Given the description of an element on the screen output the (x, y) to click on. 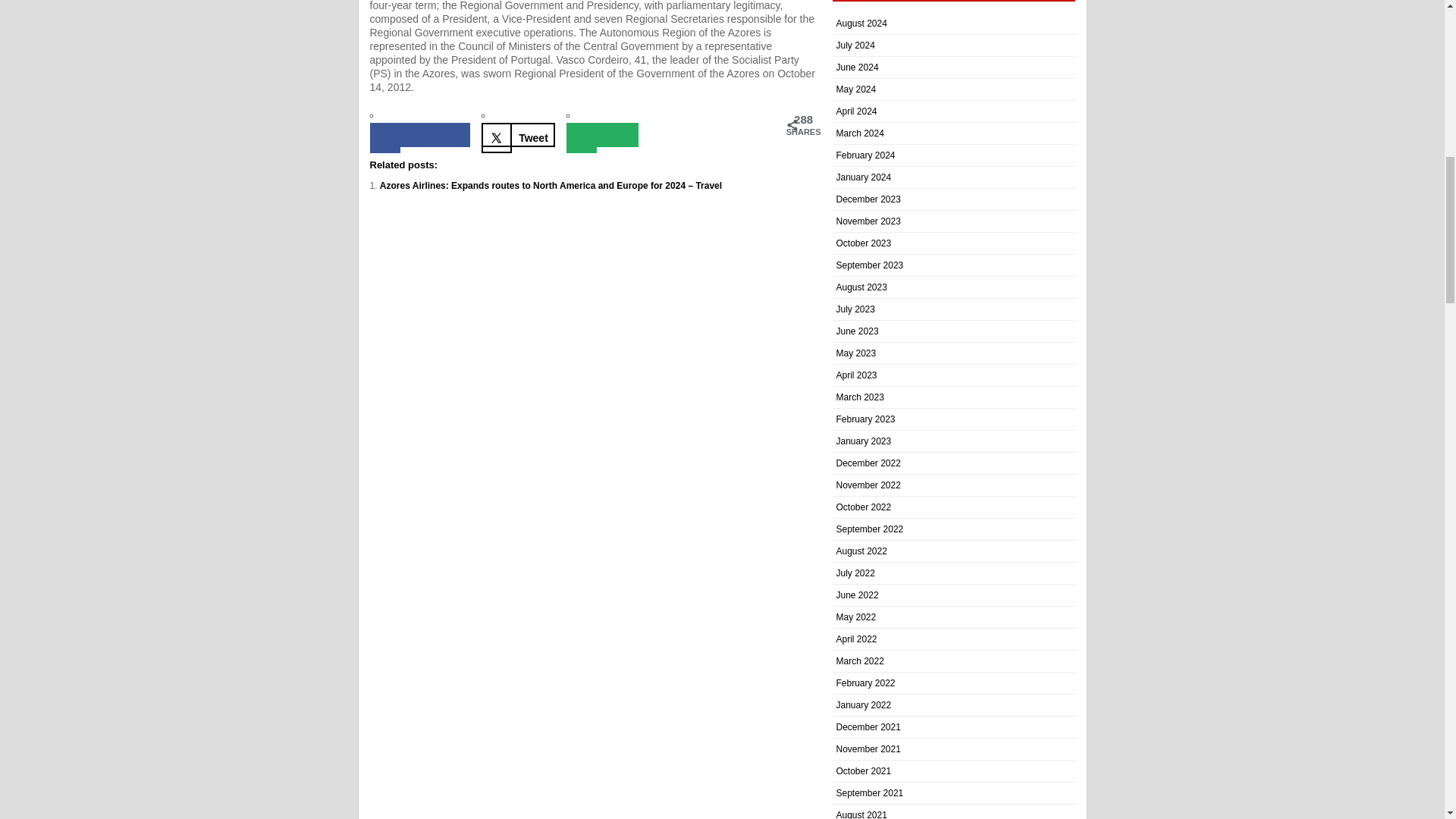
Share on X (517, 134)
Share on Facebook (419, 134)
Send over email (602, 134)
